Given the description of an element on the screen output the (x, y) to click on. 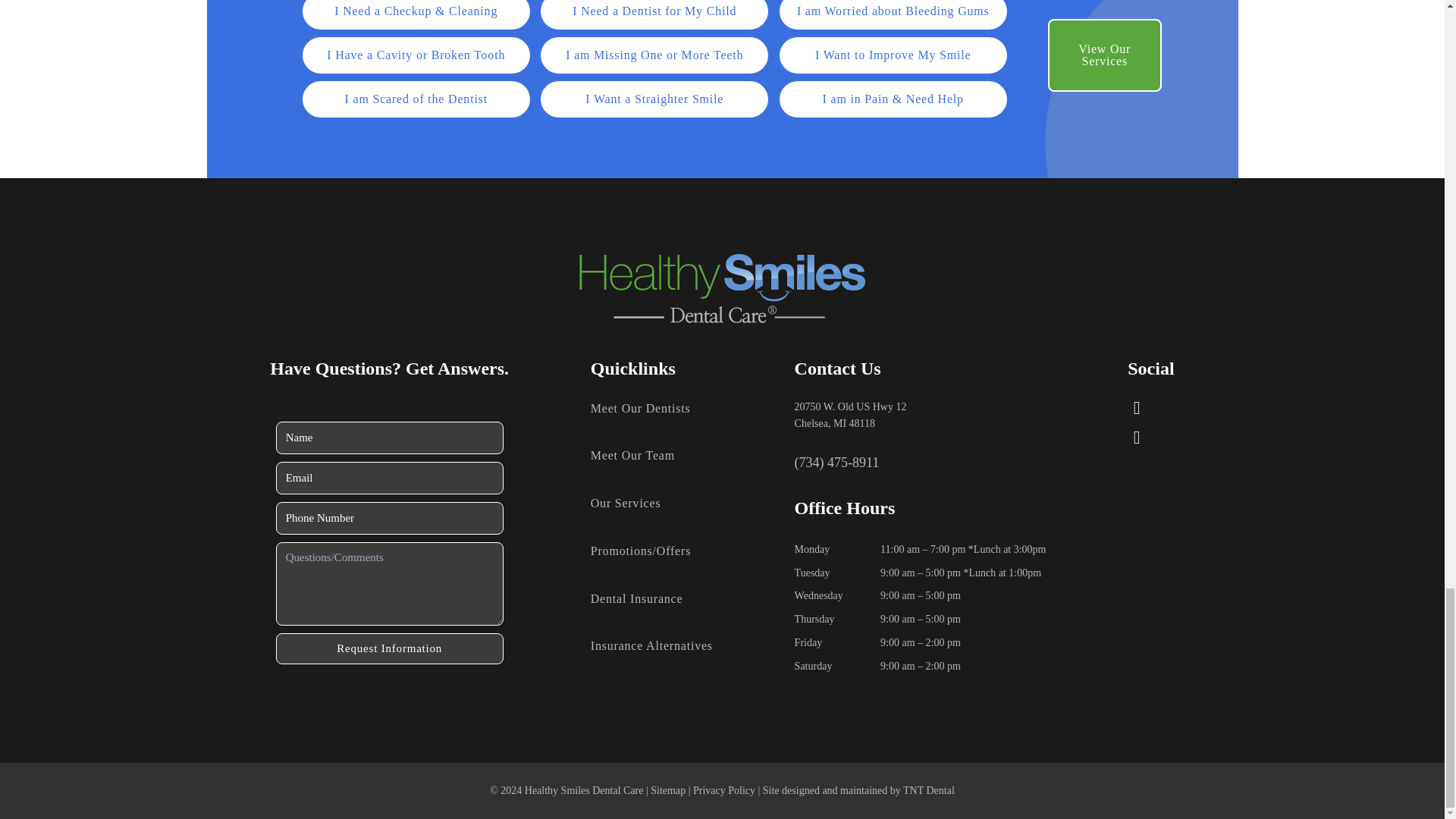
Request Information (389, 648)
